Given the description of an element on the screen output the (x, y) to click on. 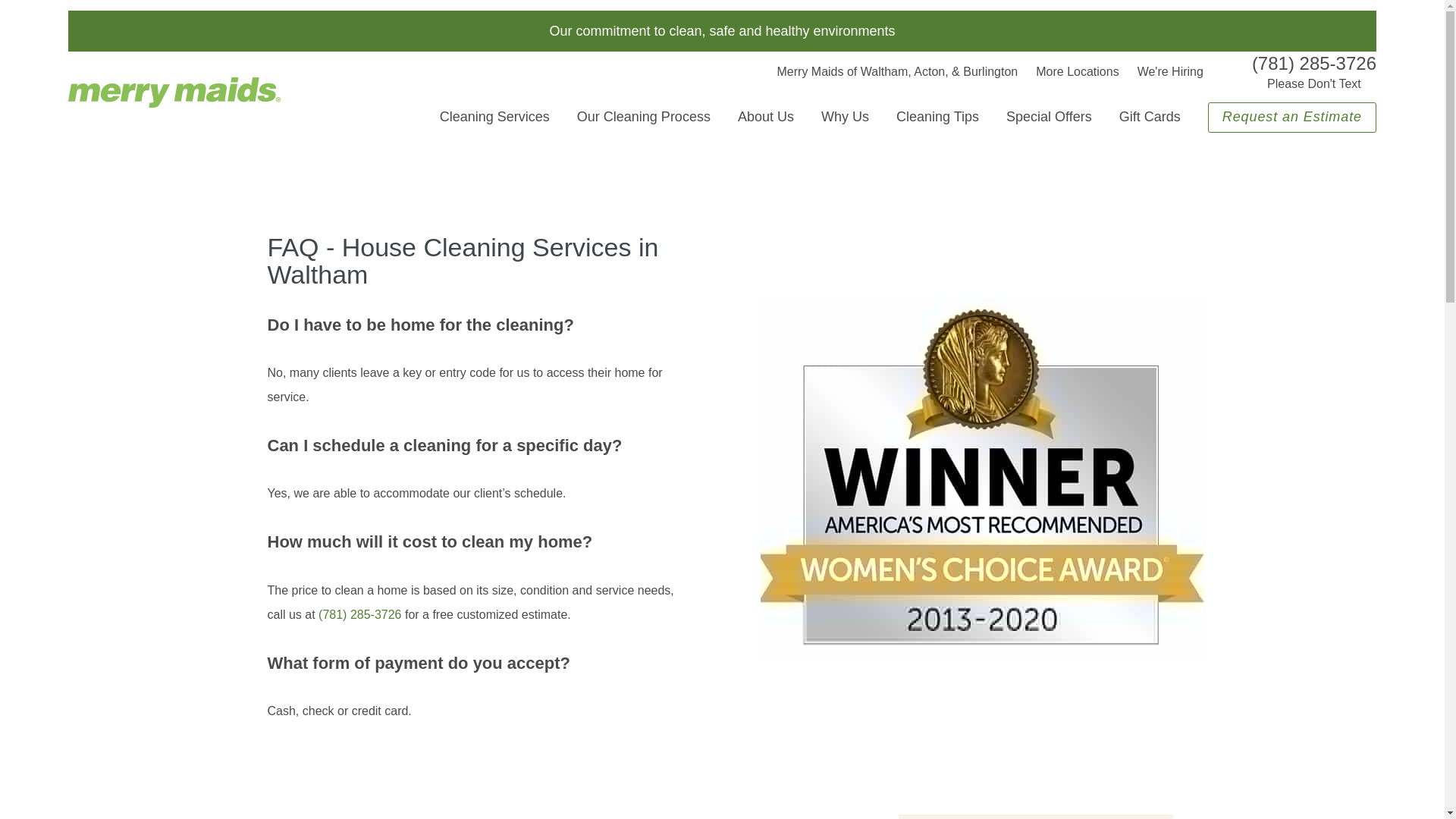
More Locations (1076, 71)
Our Cleaning Process (643, 117)
Why Us (845, 117)
Merry Maids (174, 91)
Cleaning Tips (937, 117)
About Us (765, 117)
Our commitment to clean, safe and healthy environments (721, 30)
Cleaning Services (494, 117)
We're Hiring (1170, 71)
